Given the description of an element on the screen output the (x, y) to click on. 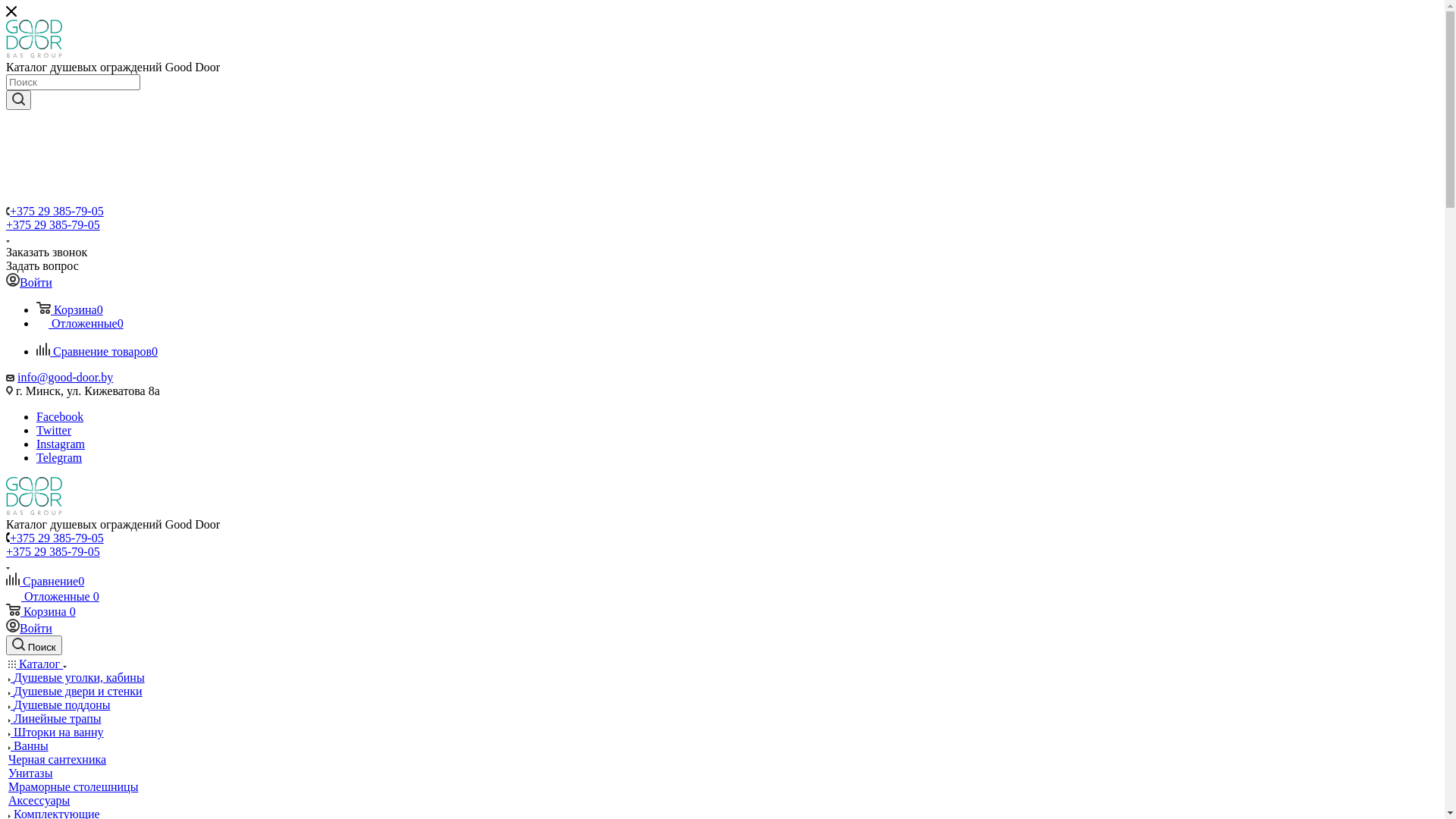
+375 29 385-79-05 Element type: text (56, 210)
+375 29 385-79-05 Element type: text (56, 537)
+375 29 385-79-05 Element type: text (53, 551)
info@good-door.by Element type: text (64, 376)
Twitter Element type: text (53, 429)
Telegram Element type: text (58, 457)
+375 29 385-79-05 Element type: text (53, 224)
Facebook Element type: text (59, 416)
Instagram Element type: text (60, 443)
